Given the description of an element on the screen output the (x, y) to click on. 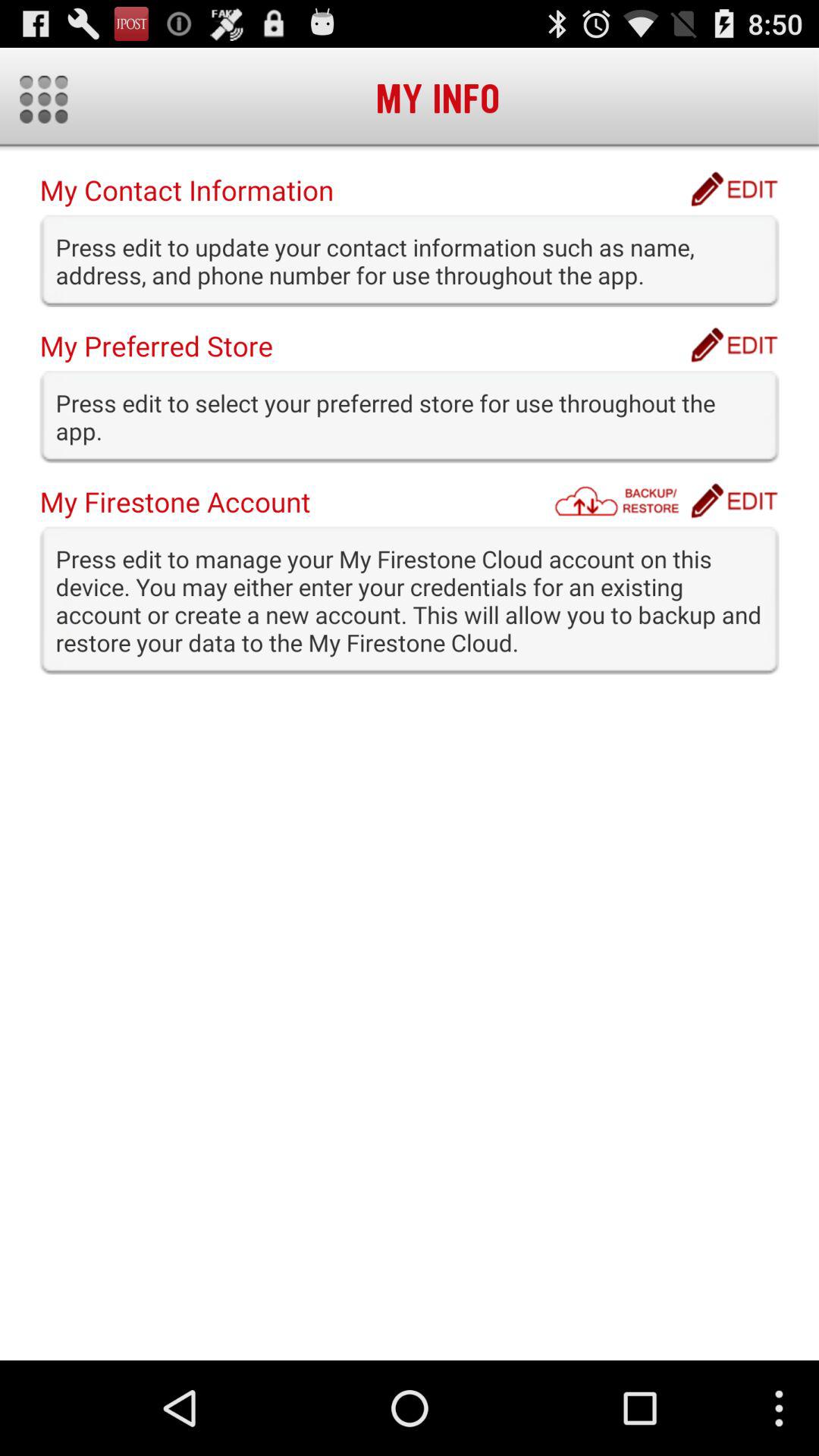
open icon at the top left corner (43, 99)
